Given the description of an element on the screen output the (x, y) to click on. 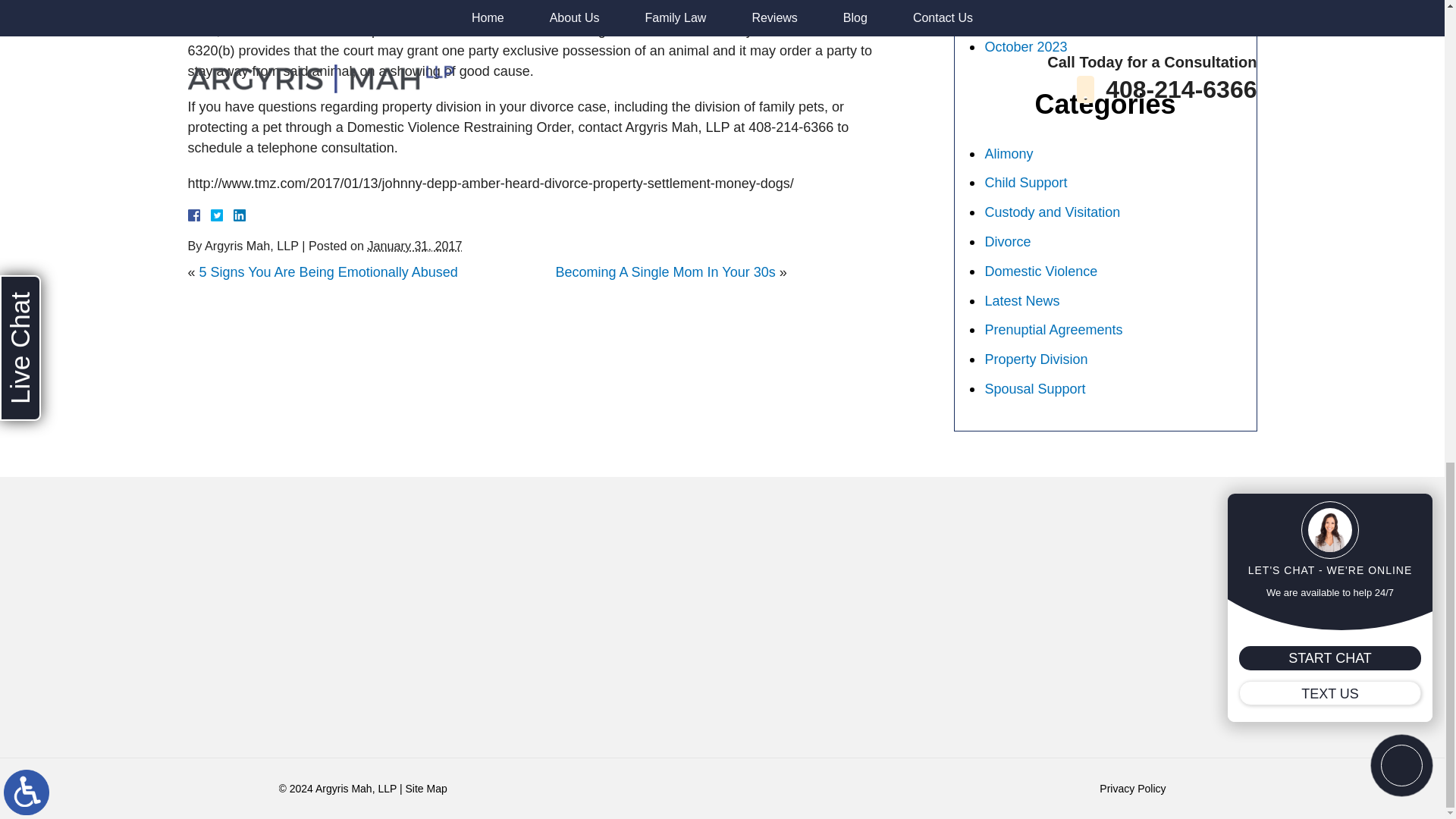
2017-01-31T07:05:24-0800 (413, 245)
LinkedIn (233, 215)
Twitter (222, 215)
Facebook (211, 215)
